Given the description of an element on the screen output the (x, y) to click on. 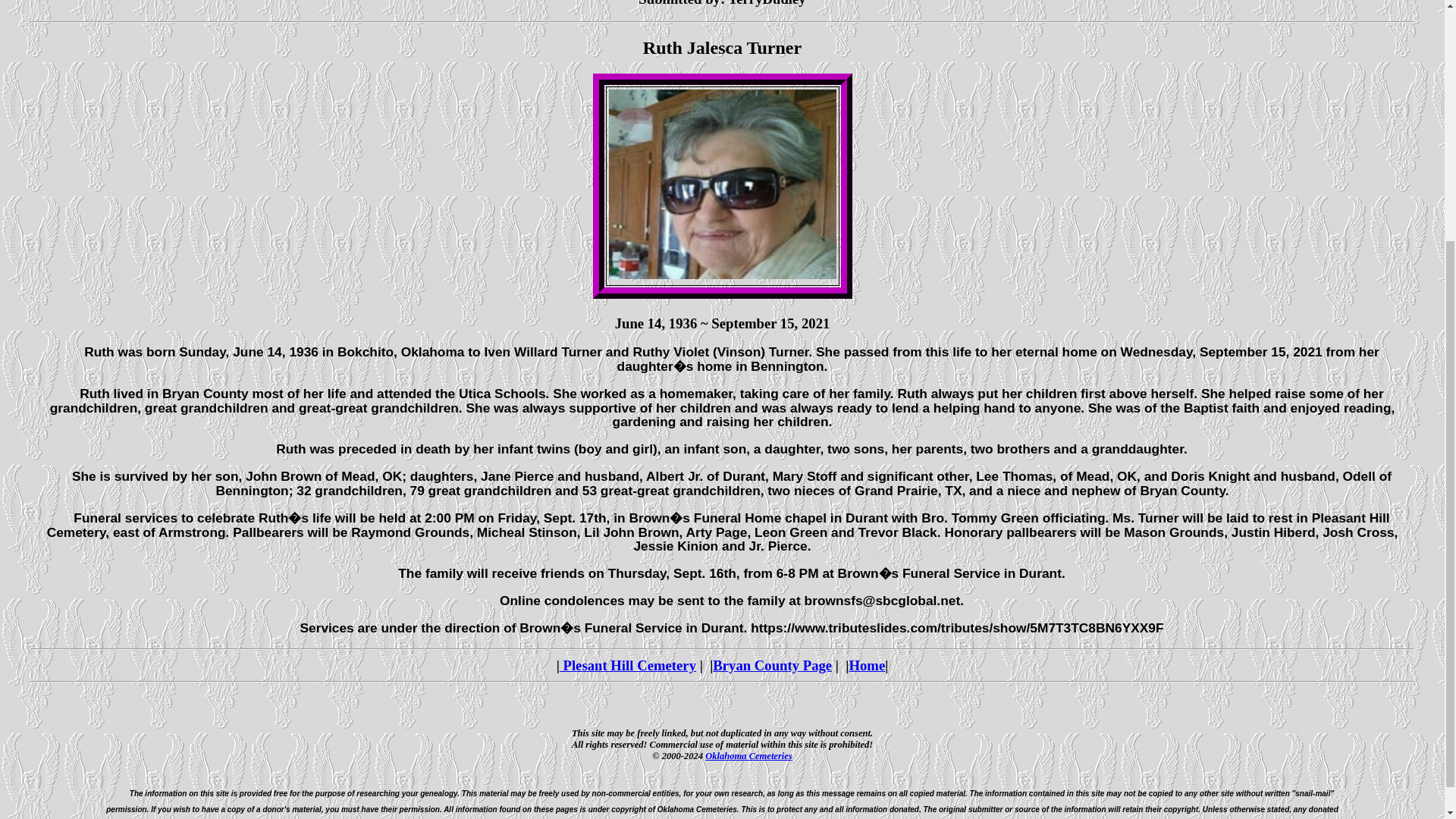
Plesant Hill Cemetery (627, 665)
Oklahoma Cemeteries (748, 756)
Bryan County Page (772, 665)
Home (866, 665)
